Given the description of an element on the screen output the (x, y) to click on. 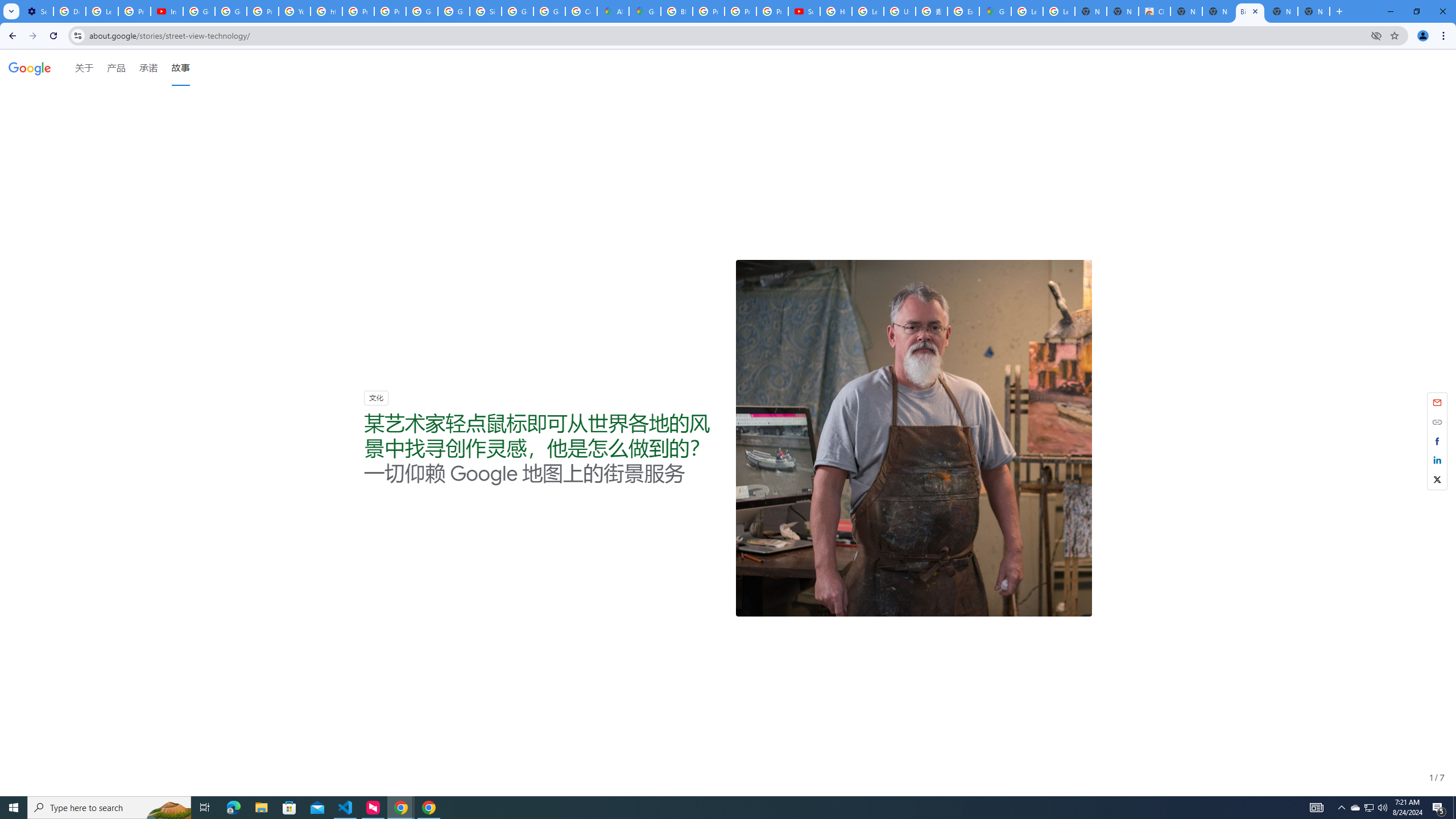
Google Maps (995, 11)
Privacy Help Center - Policies Help (262, 11)
Google Account Help (230, 11)
